Given the description of an element on the screen output the (x, y) to click on. 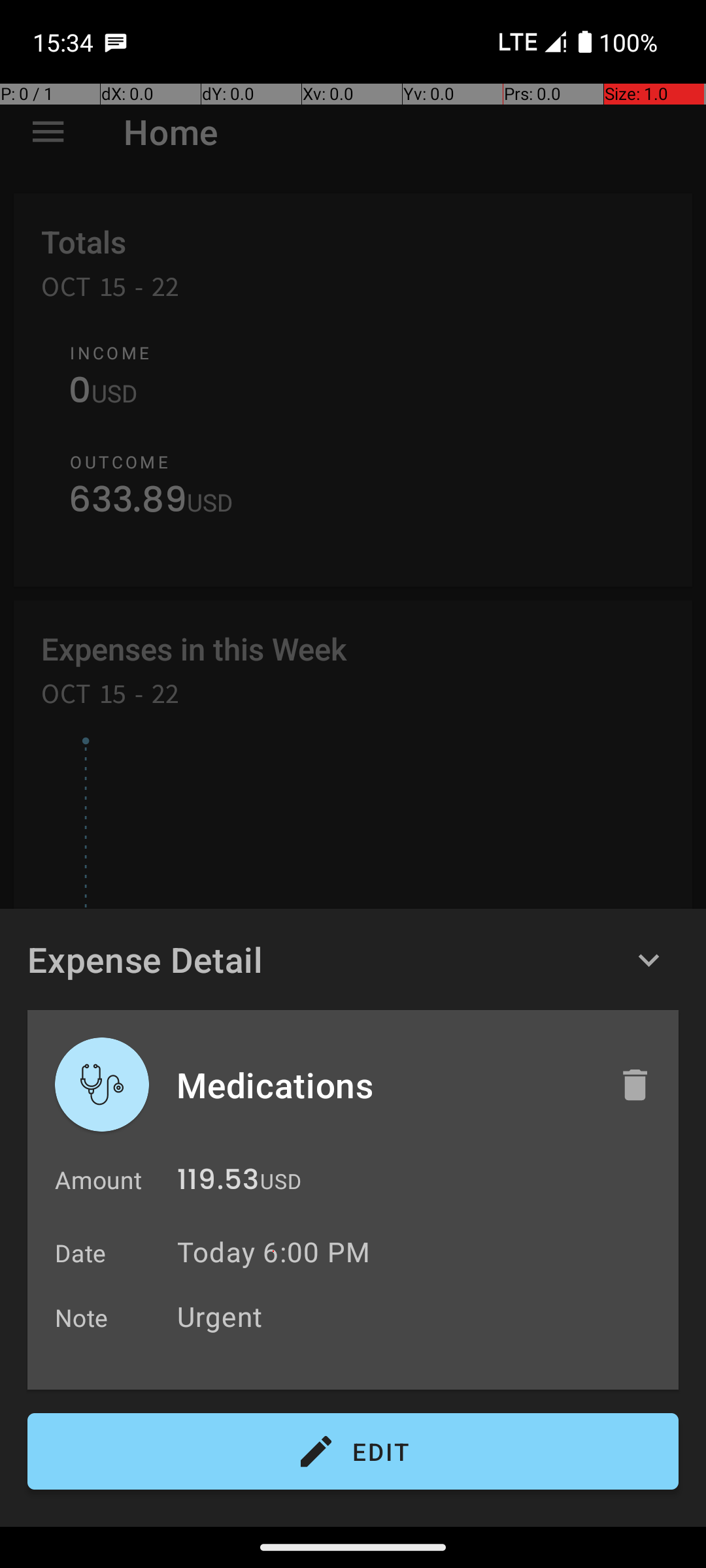
Medications Element type: android.widget.TextView (383, 1084)
119.53 Element type: android.widget.TextView (217, 1182)
SMS Messenger notification: Juan Alves Element type: android.widget.ImageView (115, 41)
